Given the description of an element on the screen output the (x, y) to click on. 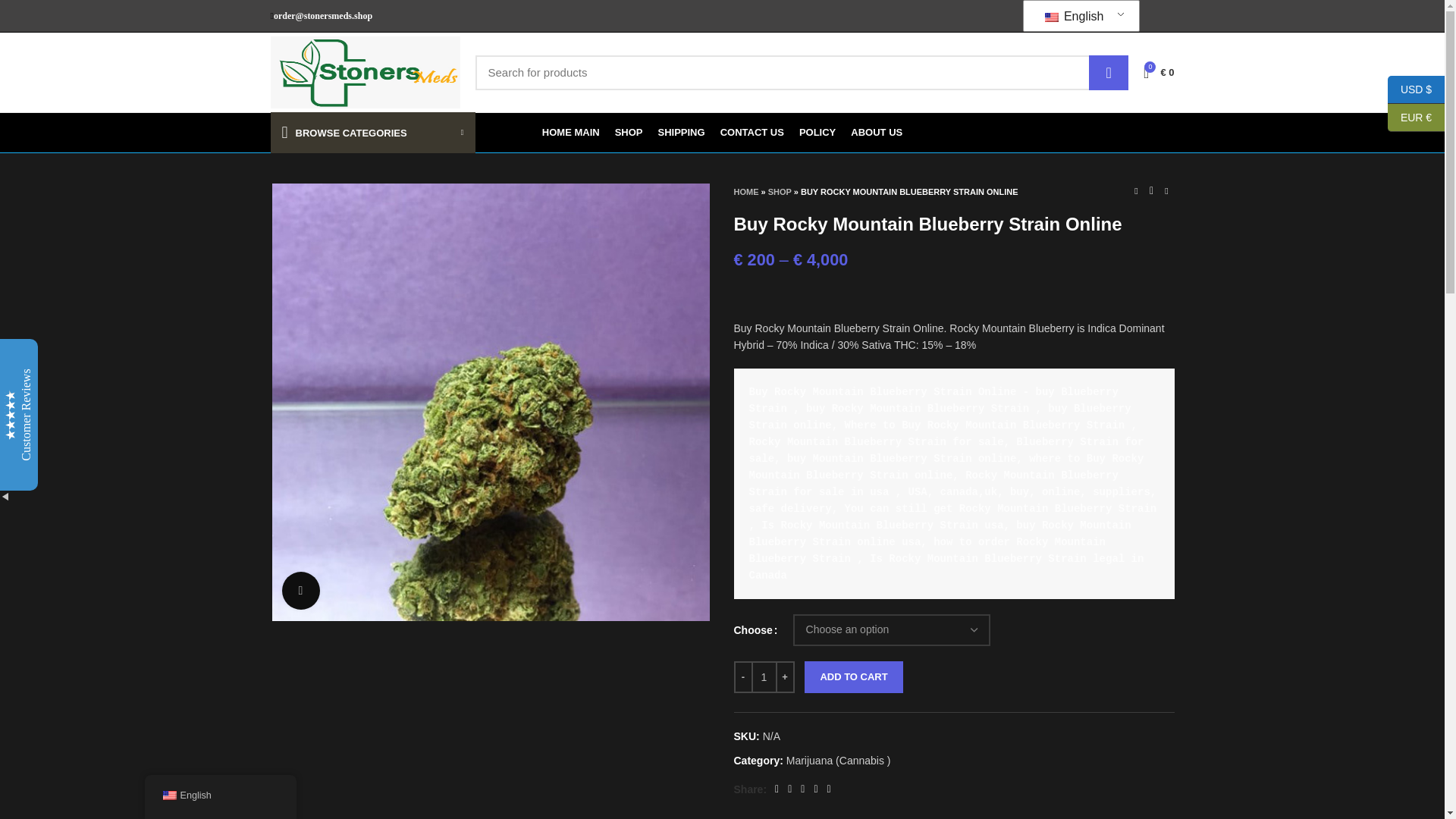
SEARCH (1108, 71)
English (1051, 17)
English (1077, 16)
English (1077, 16)
